Given the description of an element on the screen output the (x, y) to click on. 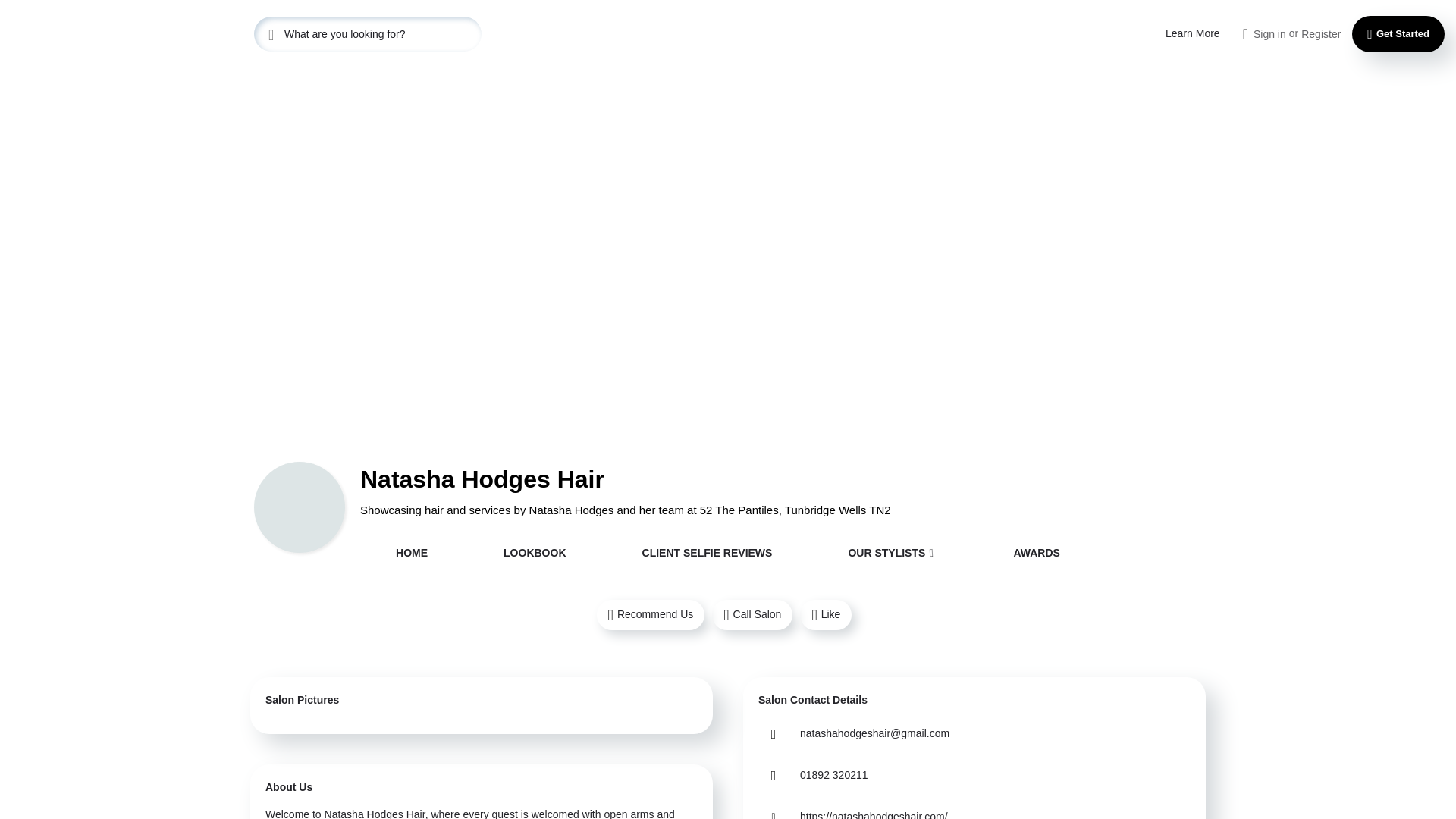
Like (825, 614)
Natasha Hodges Hair (374, 813)
AWARDS (1036, 553)
Learn More (1193, 32)
OUR STYLISTS (892, 553)
Register (1320, 33)
Sign in (1269, 33)
Get Started (1398, 33)
Call Salon (751, 614)
Recommend Us (650, 614)
LOOKBOOK (534, 553)
CLIENT SELFIE REVIEWS (707, 553)
HOME (411, 553)
